Given the description of an element on the screen output the (x, y) to click on. 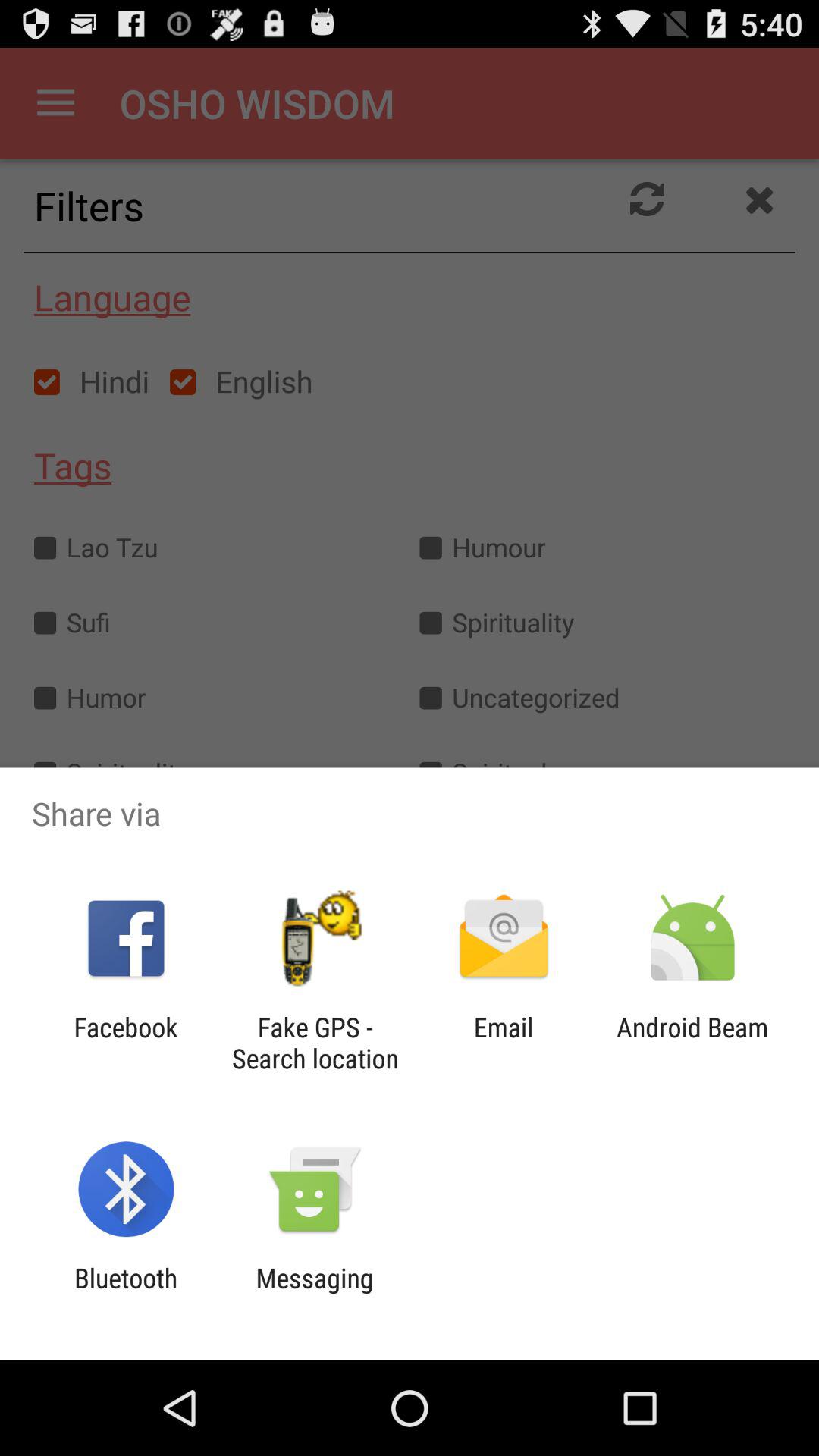
tap app next to email icon (692, 1042)
